Given the description of an element on the screen output the (x, y) to click on. 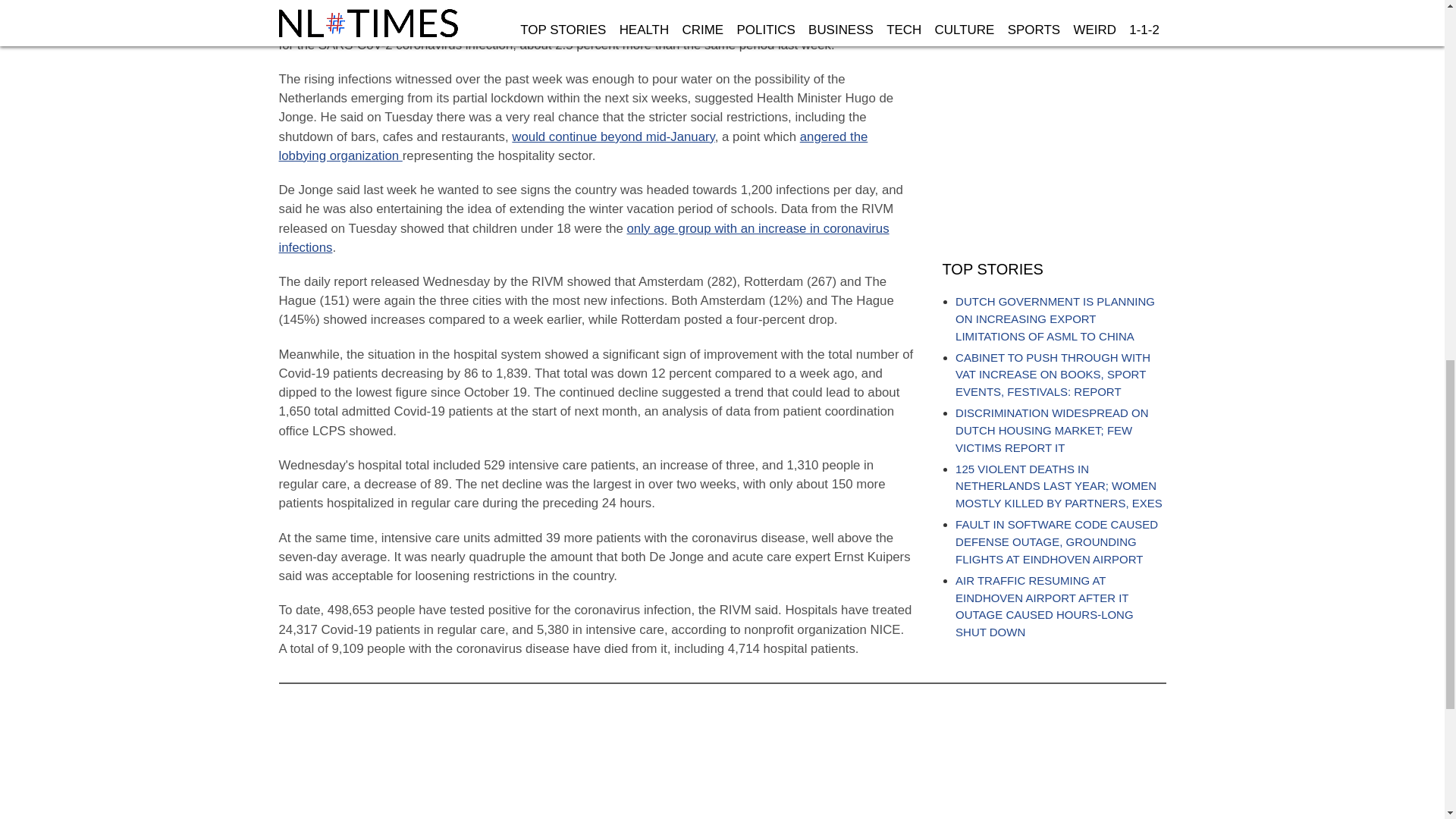
would continue beyond mid-January (613, 136)
only age group with an increase in coronavirus infections (584, 237)
angered the lobbying organization (573, 145)
